Given the description of an element on the screen output the (x, y) to click on. 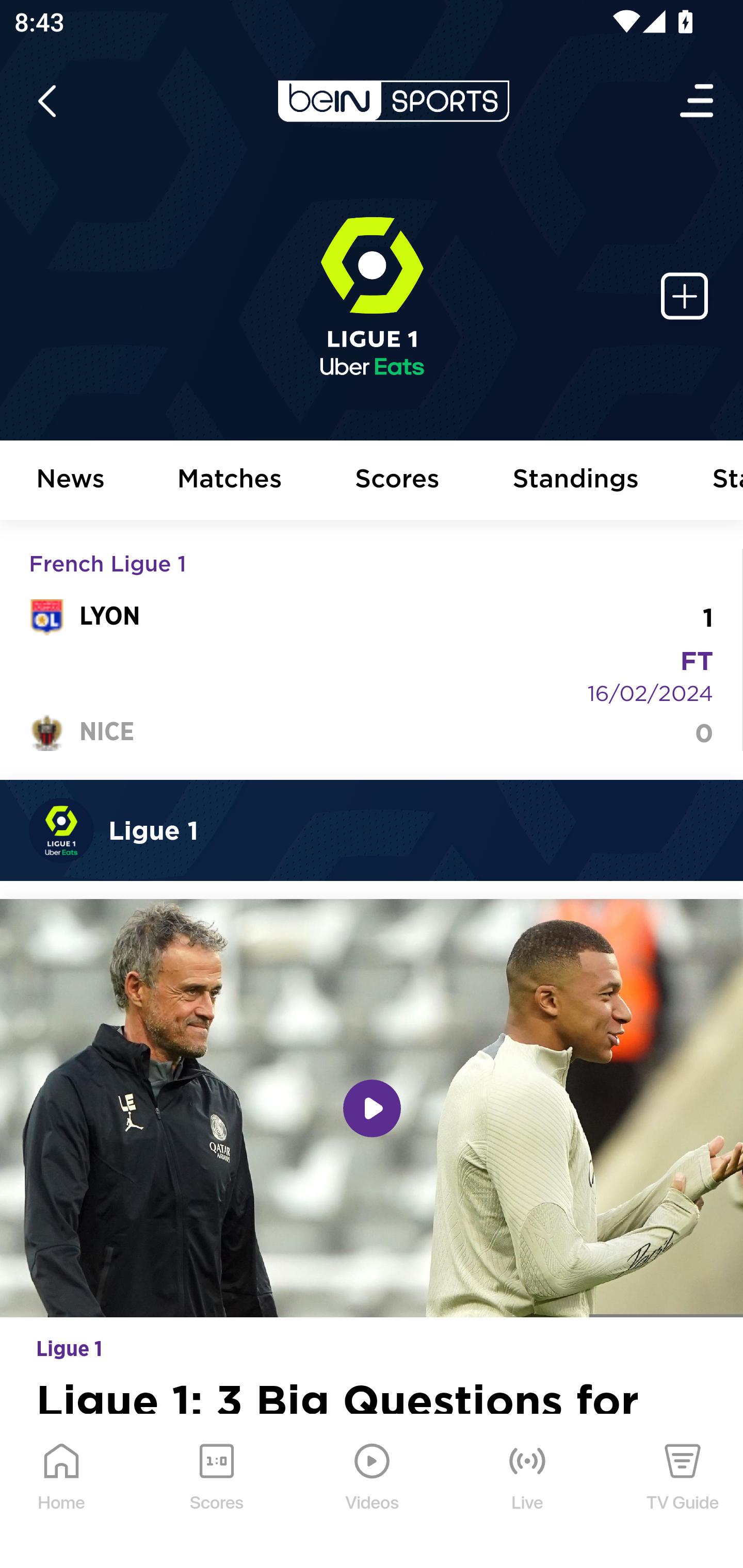
en-us?platform=mobile_android bein logo white (392, 101)
icon back (46, 101)
Open Menu Icon (697, 101)
News (70, 480)
Matches (229, 480)
Scores (397, 480)
Standings (575, 480)
Home Home Icon Home (61, 1491)
Scores Scores Icon Scores (216, 1491)
Videos Videos Icon Videos (372, 1491)
TV Guide TV Guide Icon TV Guide (682, 1491)
